Given the description of an element on the screen output the (x, y) to click on. 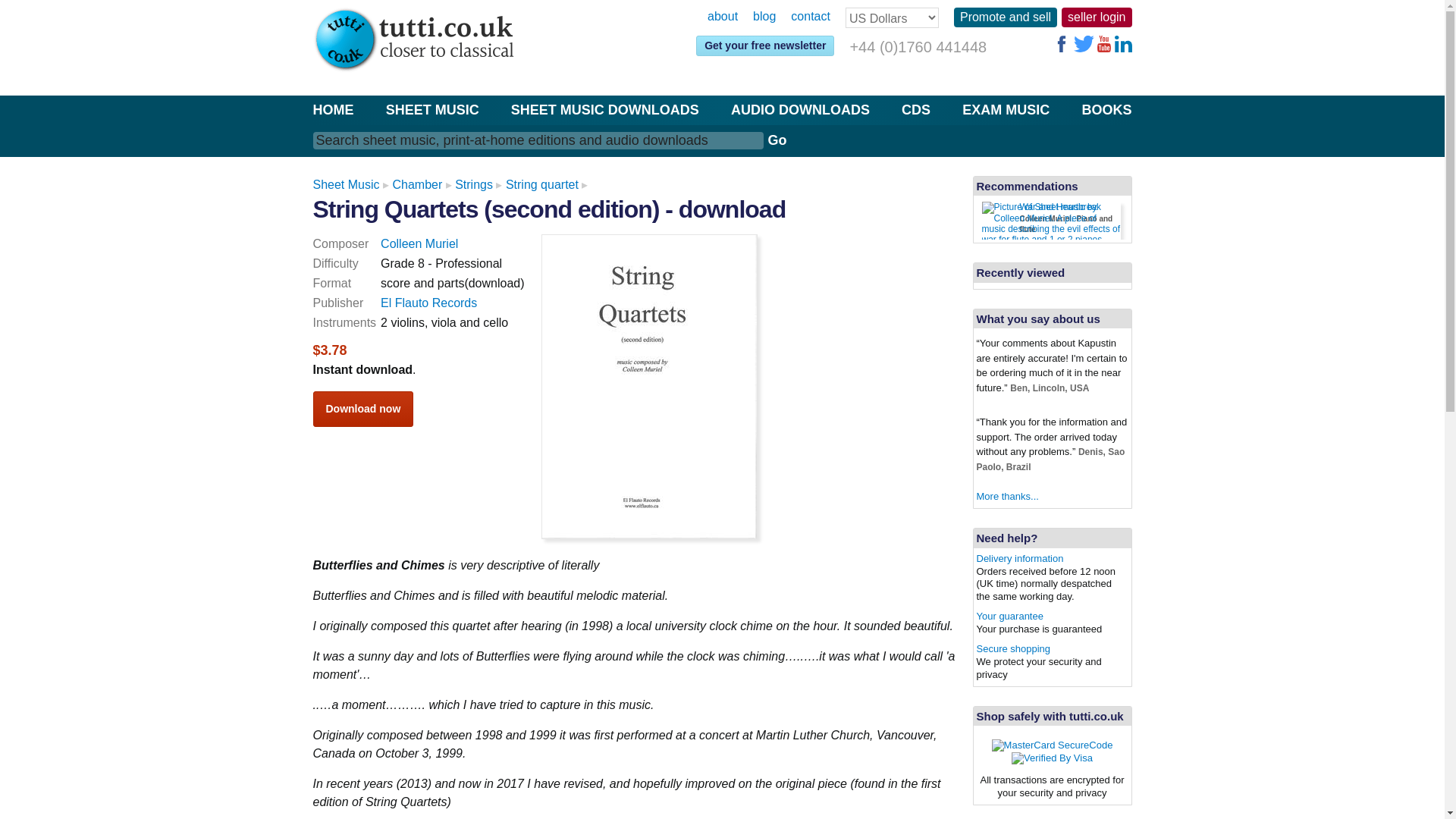
Chamber (416, 184)
String quartet (541, 184)
blog (764, 17)
AUDIO DOWNLOADS (799, 109)
El Flauto Records (428, 302)
Go (1053, 220)
CDS (776, 140)
SHEET MUSIC DOWNLOADS (915, 109)
Strings (604, 109)
